Given the description of an element on the screen output the (x, y) to click on. 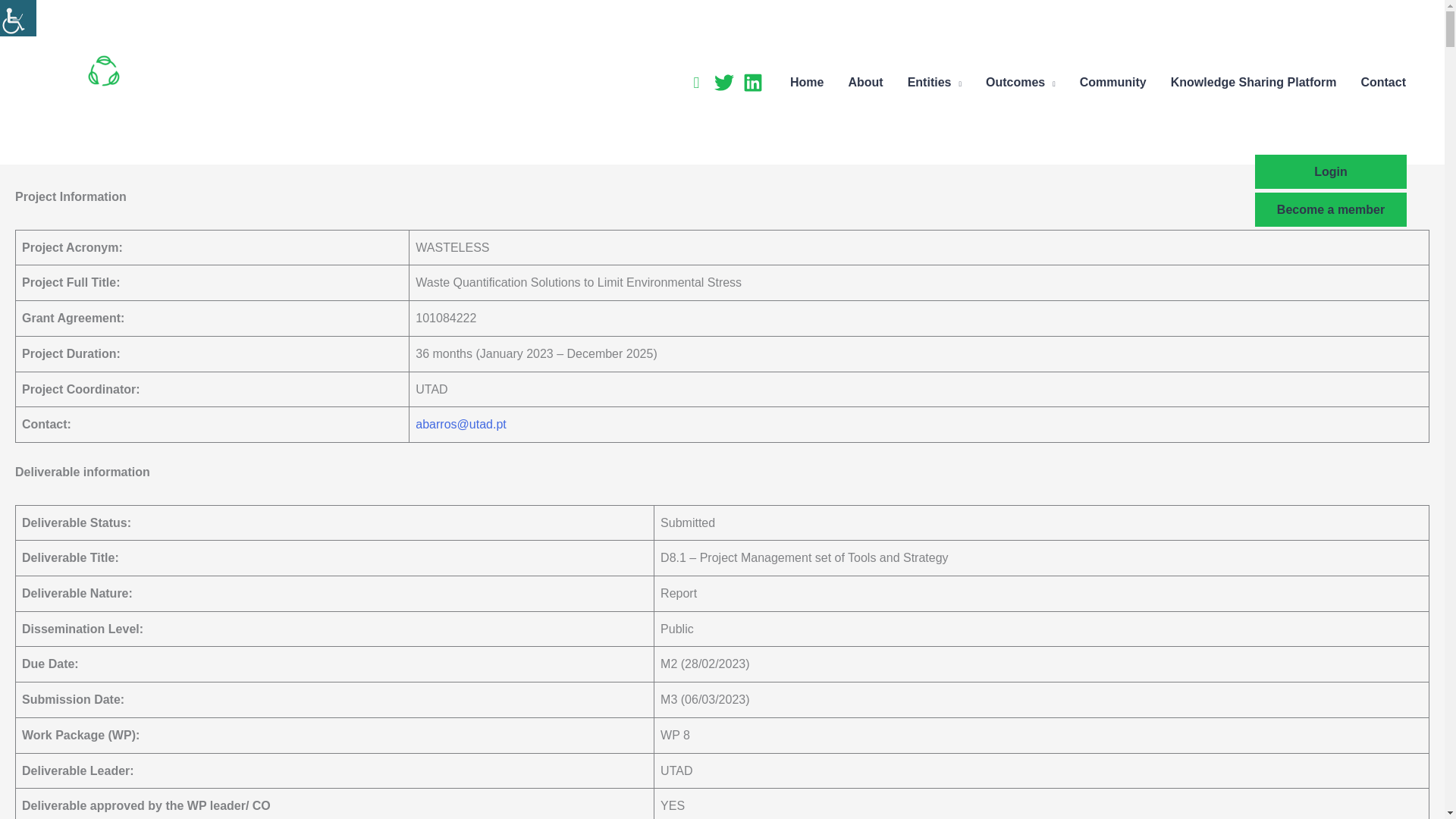
Accessibility Helper sidebar (18, 18)
